Given the description of an element on the screen output the (x, y) to click on. 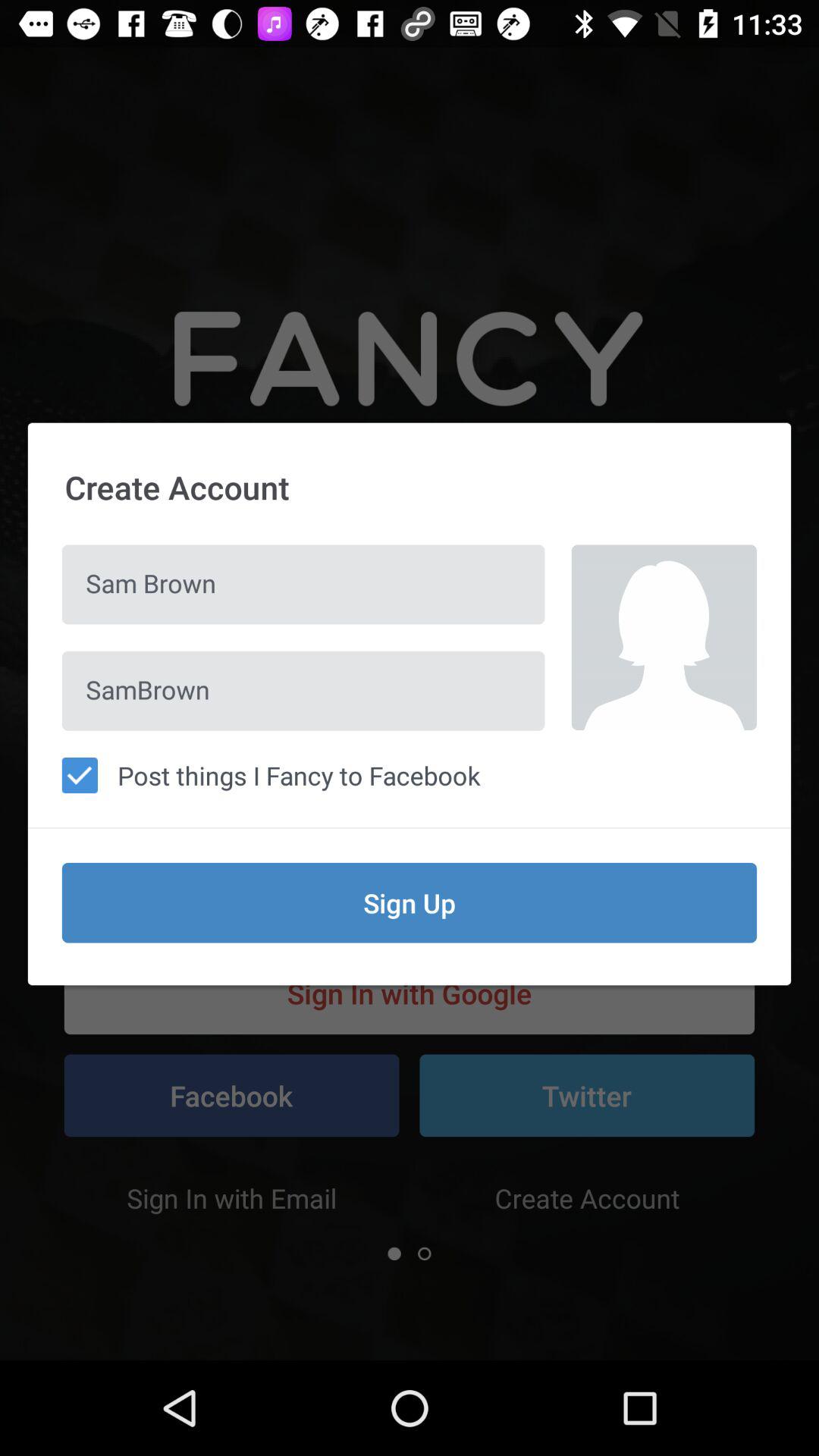
turn on sign up (409, 902)
